Given the description of an element on the screen output the (x, y) to click on. 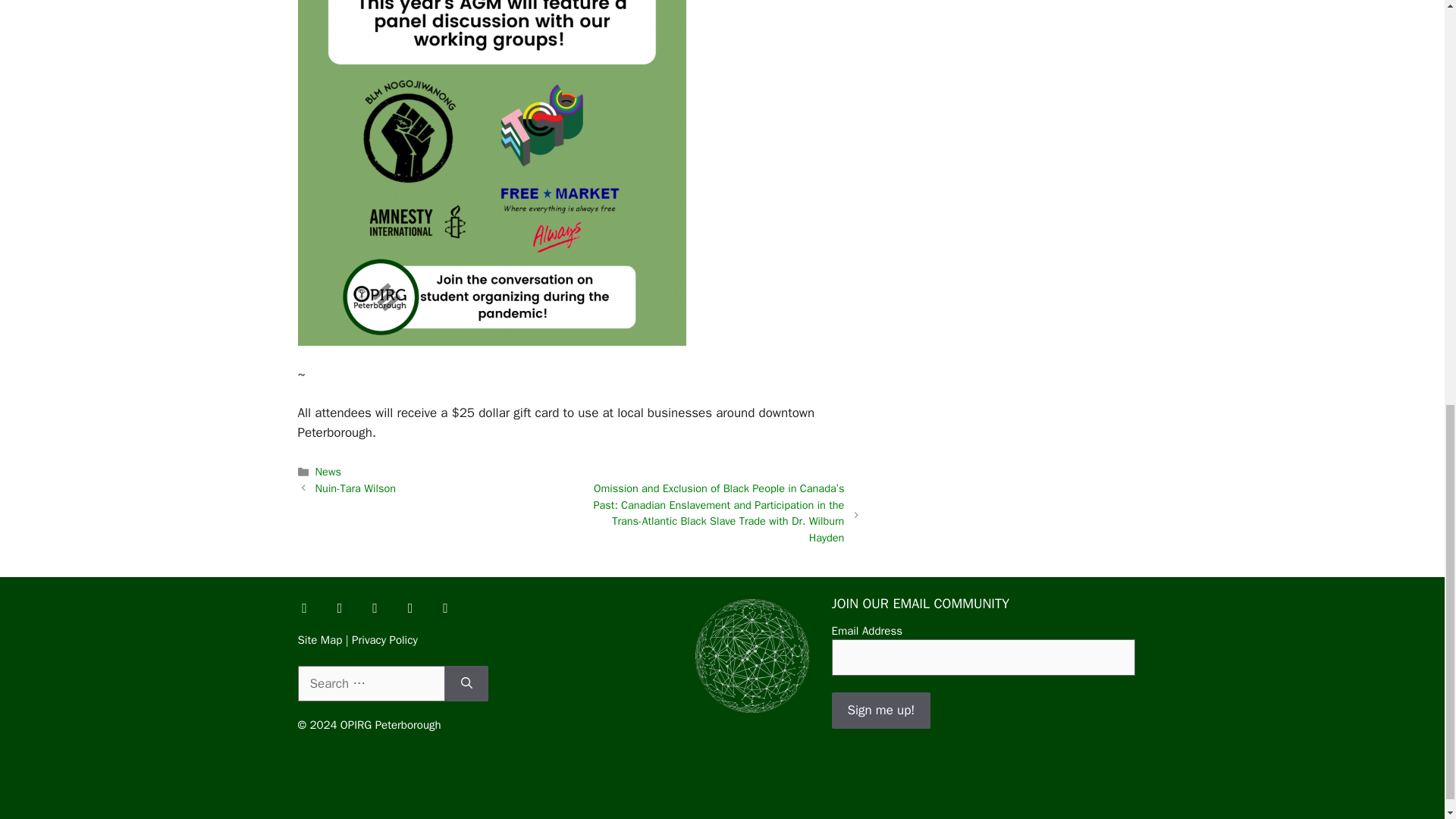
Sign me up! (880, 710)
Default Label (445, 607)
Instagram (375, 607)
Facebook (304, 607)
Default Label (410, 607)
Twitter (339, 607)
